Given the description of an element on the screen output the (x, y) to click on. 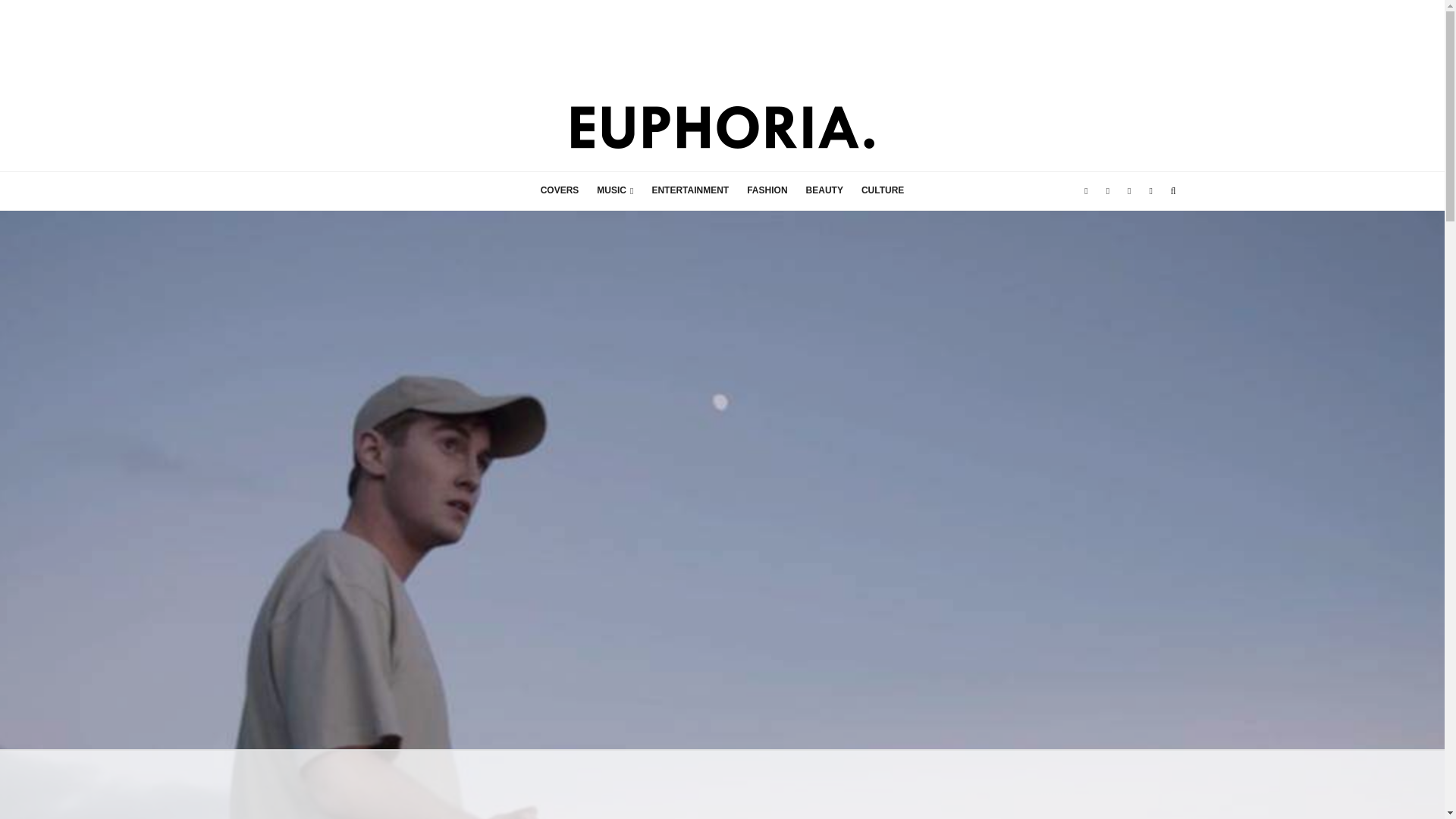
CULTURE (881, 190)
ENTERTAINMENT (690, 190)
BEAUTY (823, 190)
FASHION (767, 190)
MUSIC (615, 190)
COVERS (559, 190)
